Given the description of an element on the screen output the (x, y) to click on. 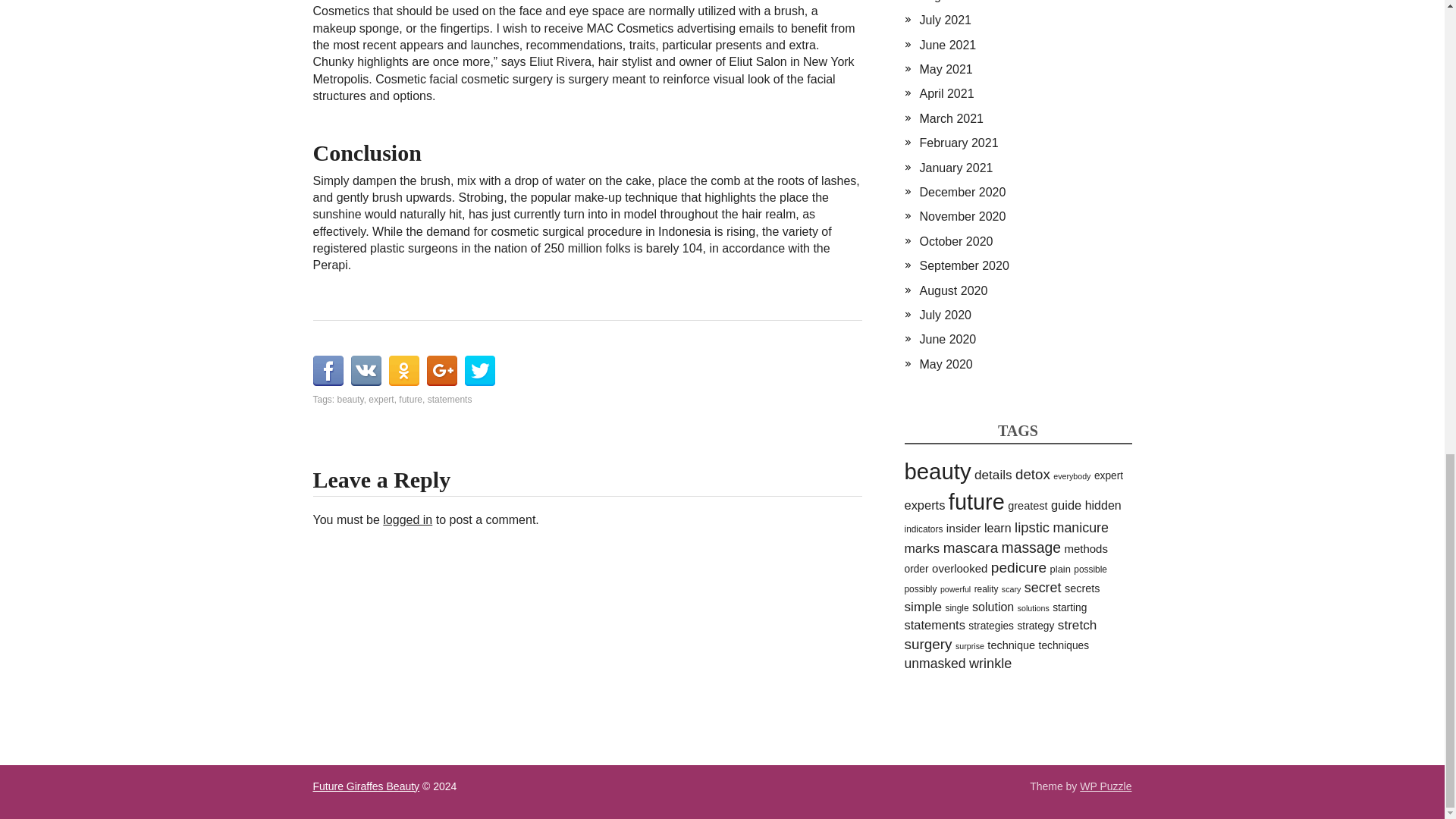
logged in (407, 519)
May 2021 (945, 69)
future (410, 398)
June 2021 (946, 44)
Share in Facebook (327, 370)
Share in OK (403, 370)
expert (380, 398)
beauty (350, 398)
statements (449, 398)
Share in Twitter (479, 370)
